Given the description of an element on the screen output the (x, y) to click on. 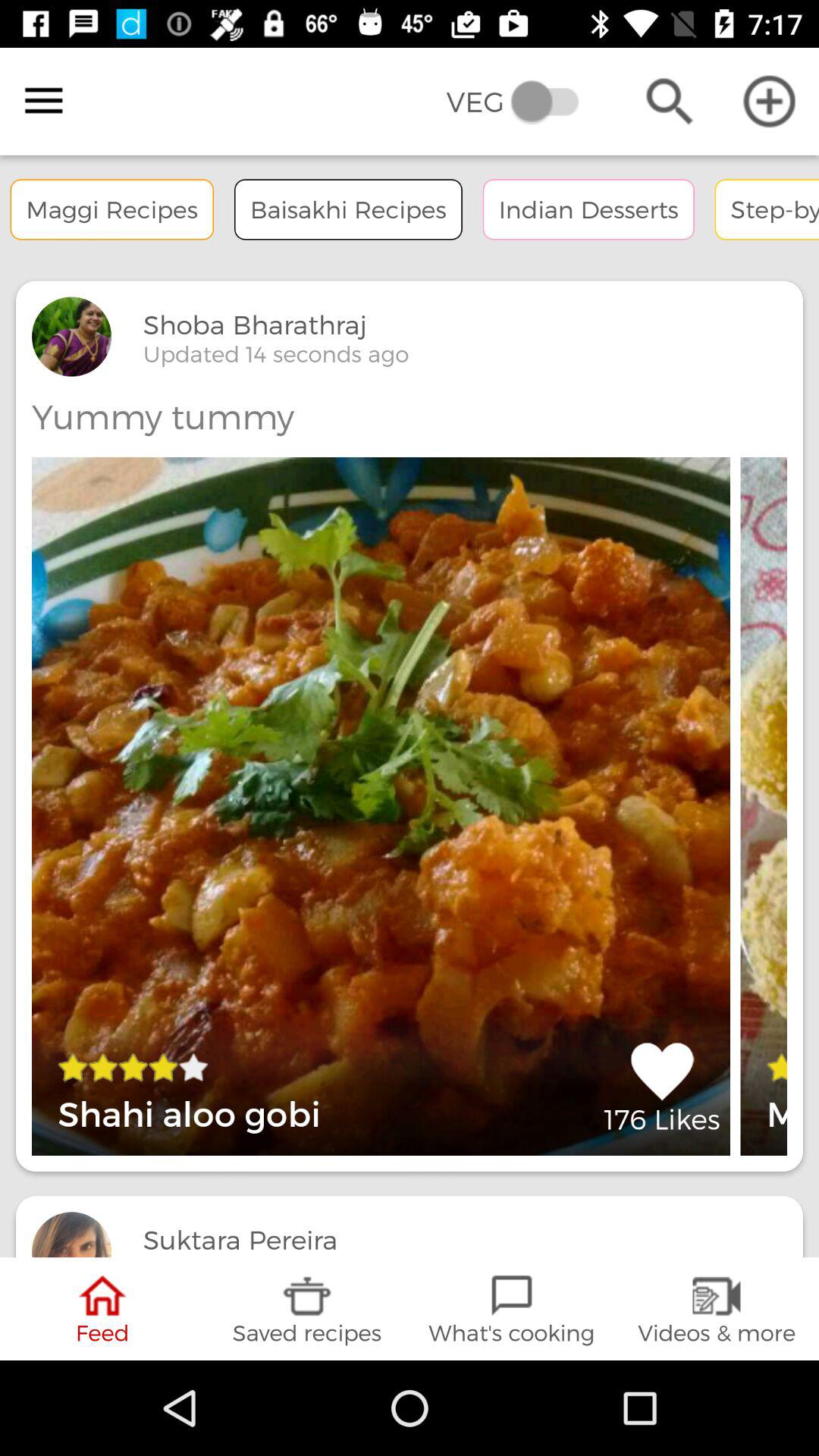
select item next to shahi aloo gobi icon (662, 1087)
